Given the description of an element on the screen output the (x, y) to click on. 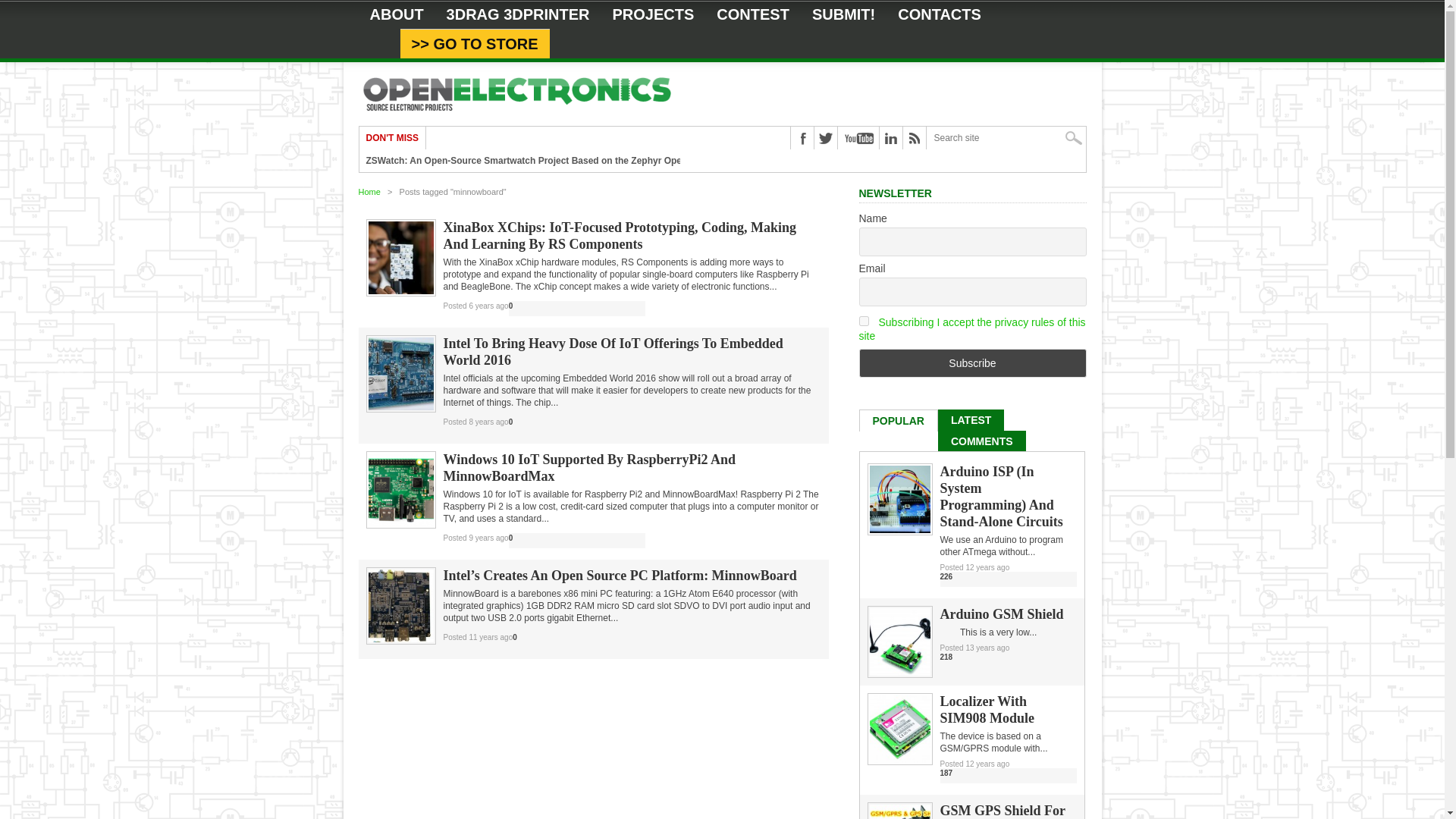
Subscribe (972, 362)
Arduino GSM shield (899, 672)
Localizer with SIM908 module (899, 759)
CONTACTS (939, 13)
Home (369, 191)
SUBMIT! (843, 13)
3DRAG 3DPRINTER (517, 13)
ABOUT (396, 13)
Windows 10 IoT Supported By RaspberryPi2 And MinnowBoardMax (631, 467)
Search site (1006, 137)
PROJECTS (653, 13)
on (863, 320)
CONTEST (752, 13)
